Given the description of an element on the screen output the (x, y) to click on. 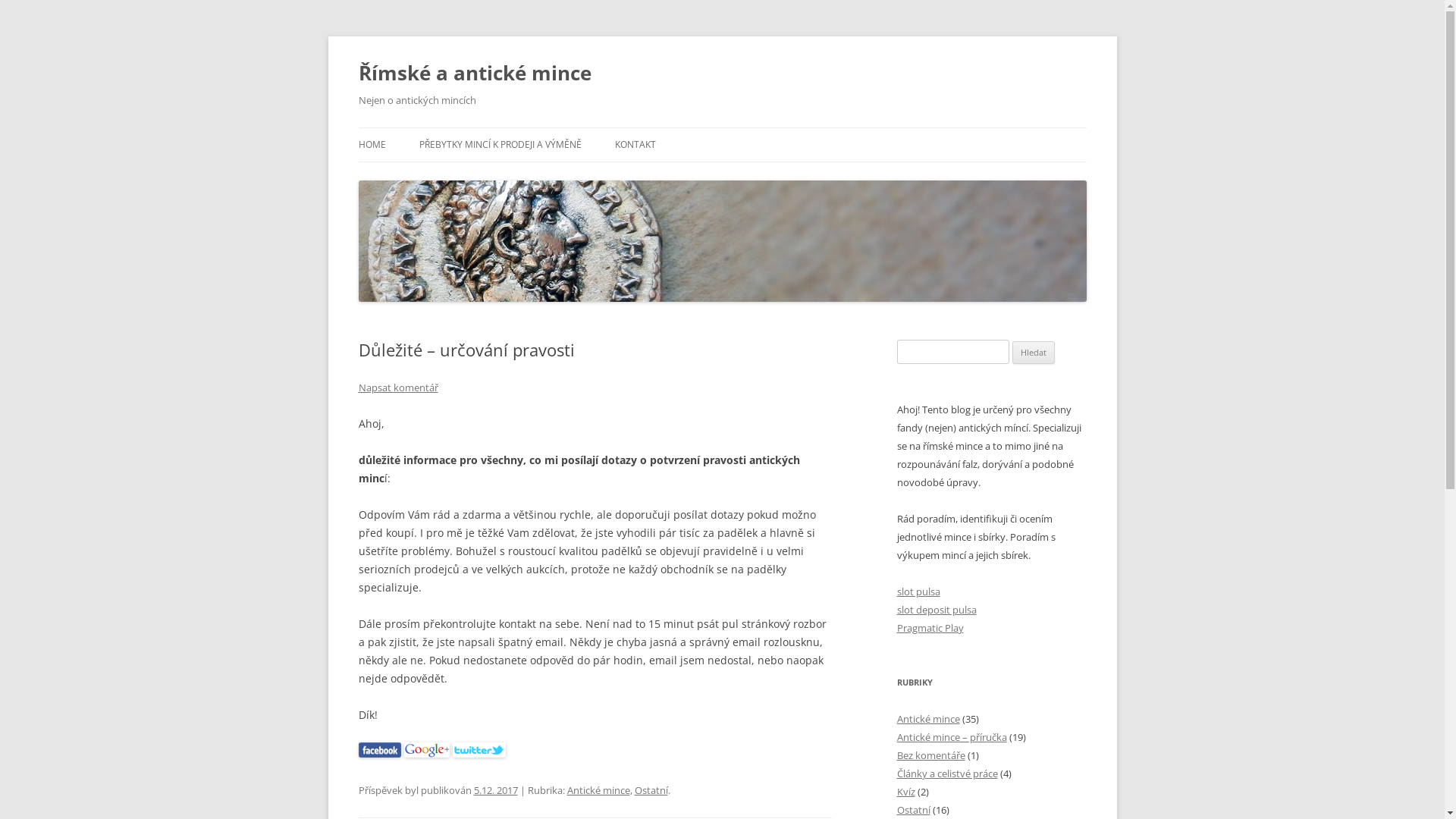
slot deposit pulsa Element type: text (935, 609)
KONTAKT Element type: text (634, 144)
5.12. 2017 Element type: text (495, 790)
Hledat Element type: text (1033, 352)
Pragmatic Play Element type: text (929, 627)
HOME Element type: text (371, 144)
slot pulsa Element type: text (917, 591)
